Given the description of an element on the screen output the (x, y) to click on. 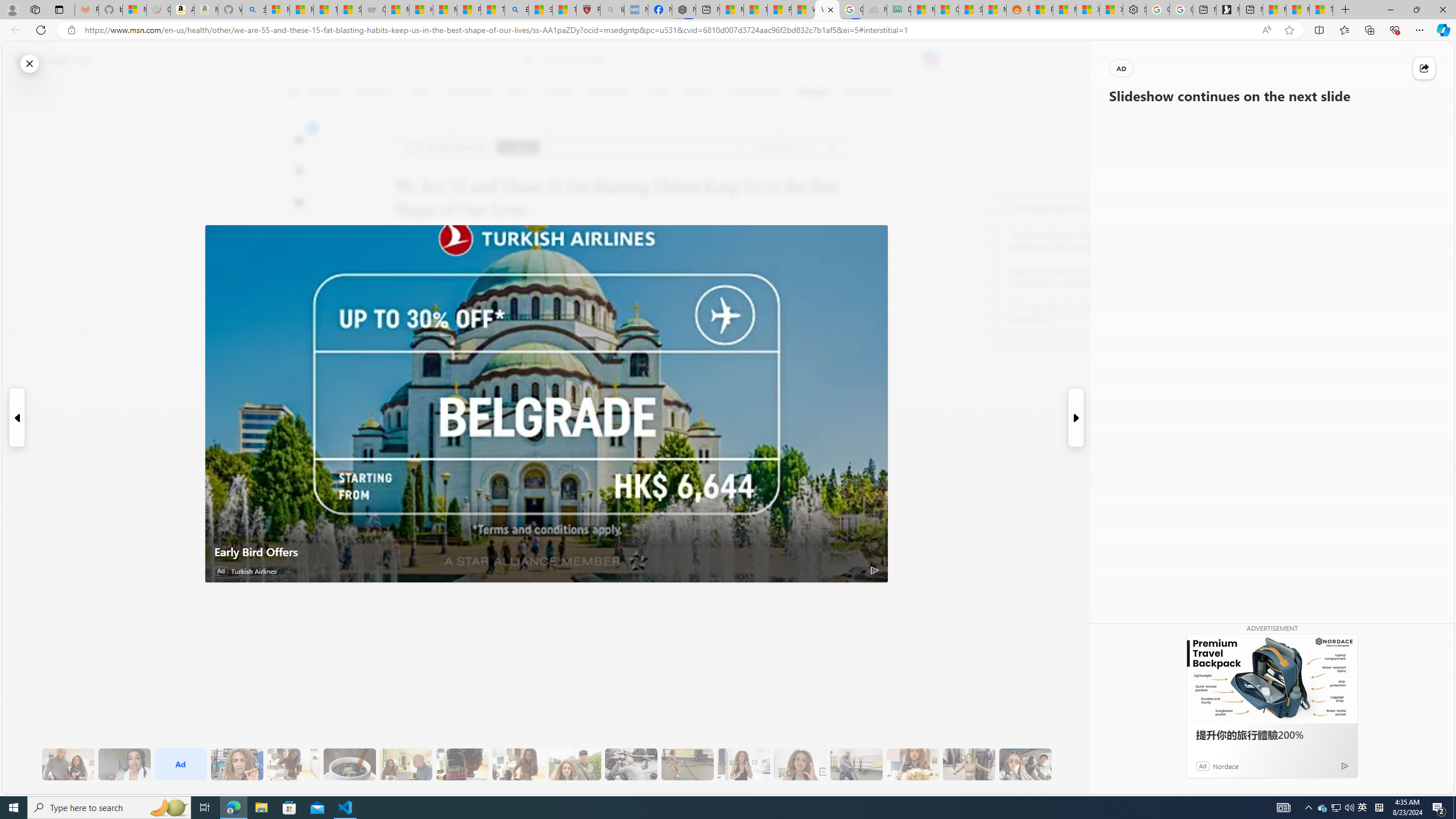
5 She Eats Less Than Her Husband (406, 764)
Body Network (1004, 207)
Body Network (449, 147)
Class: at-item immersive (1423, 68)
9 They Do Bench Exercises (631, 764)
